Given the description of an element on the screen output the (x, y) to click on. 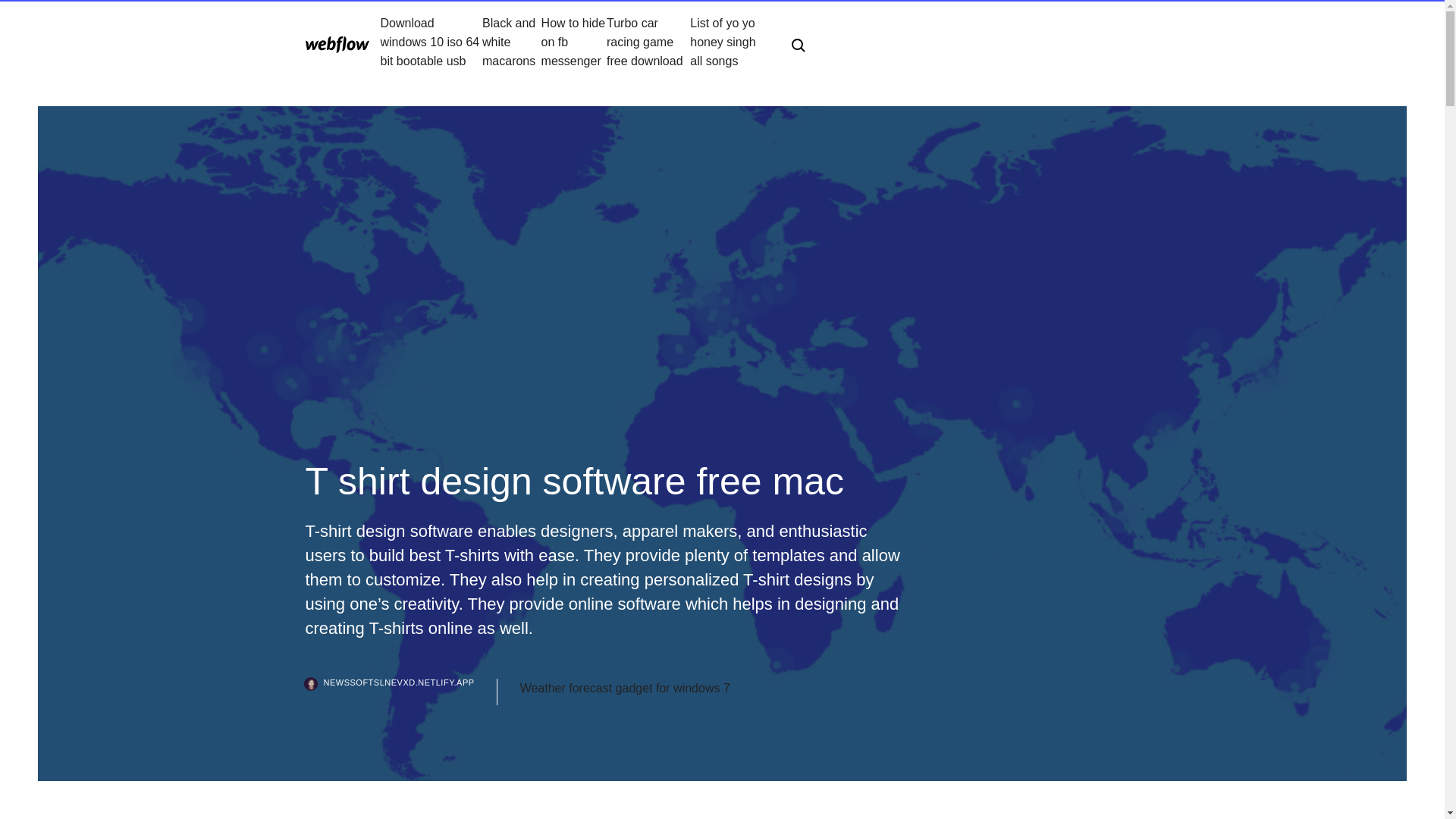
Weather forecast gadget for windows 7 (624, 687)
How to hide on fb messenger (574, 41)
Turbo car racing game free download (648, 41)
Download windows 10 iso 64 bit bootable usb (431, 41)
Black and white macarons (511, 41)
NEWSSOFTSLNEVXD.NETLIFY.APP (400, 691)
List of yo yo honey singh all songs (728, 41)
